Given the description of an element on the screen output the (x, y) to click on. 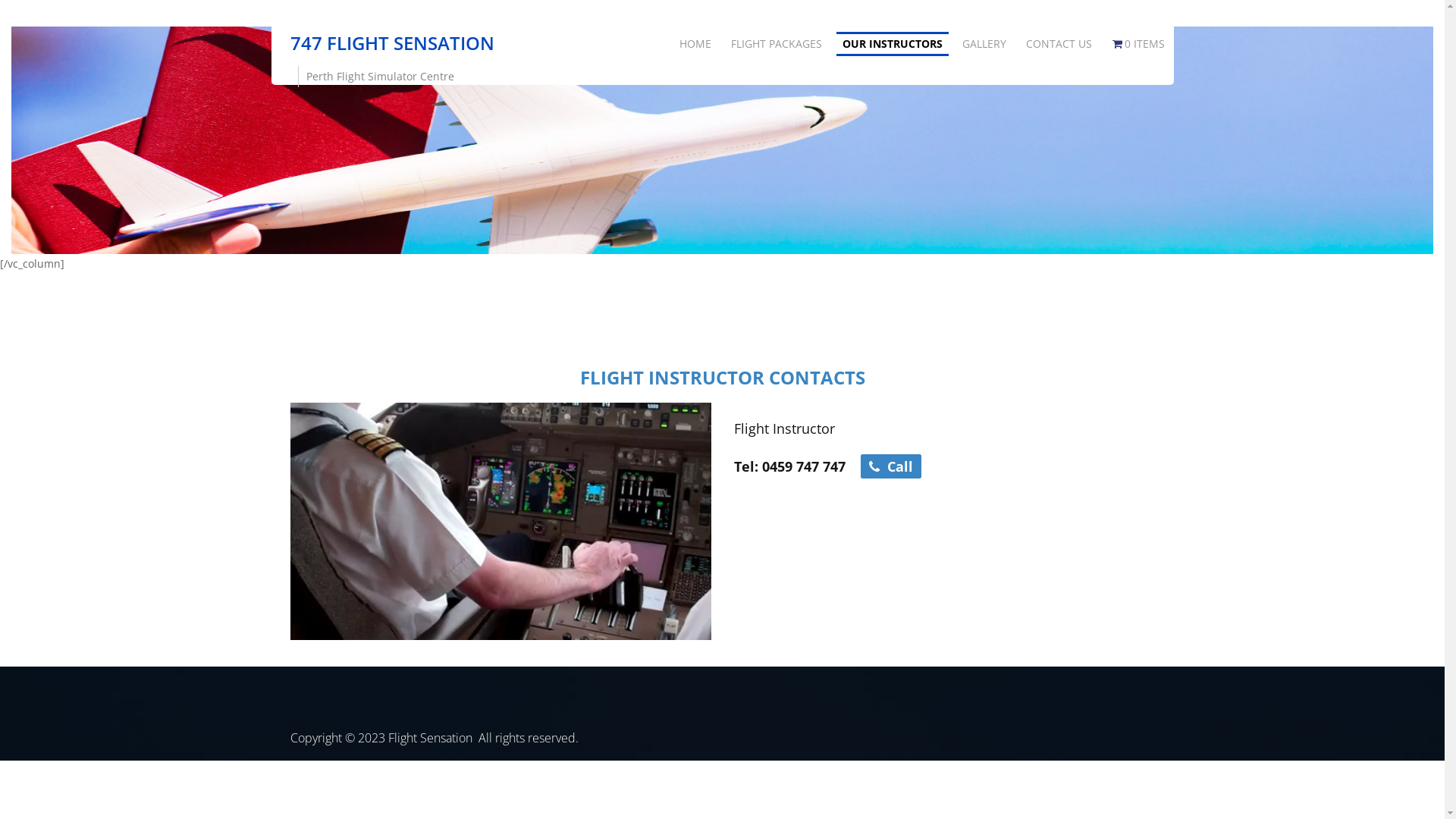
0 ITEMS Element type: text (1138, 43)
747-8 Element type: hover (499, 521)
747 FLIGHT SENSATION Element type: text (391, 42)
Flight Sensation Element type: text (430, 737)
HOME Element type: text (695, 43)
secondry-header-top Element type: hover (722, 140)
GALLERY Element type: text (984, 43)
CONTACT US Element type: text (1058, 43)
  Call Element type: text (889, 466)
OUR INSTRUCTORS Element type: text (892, 43)
FLIGHT PACKAGES Element type: text (776, 43)
